Given the description of an element on the screen output the (x, y) to click on. 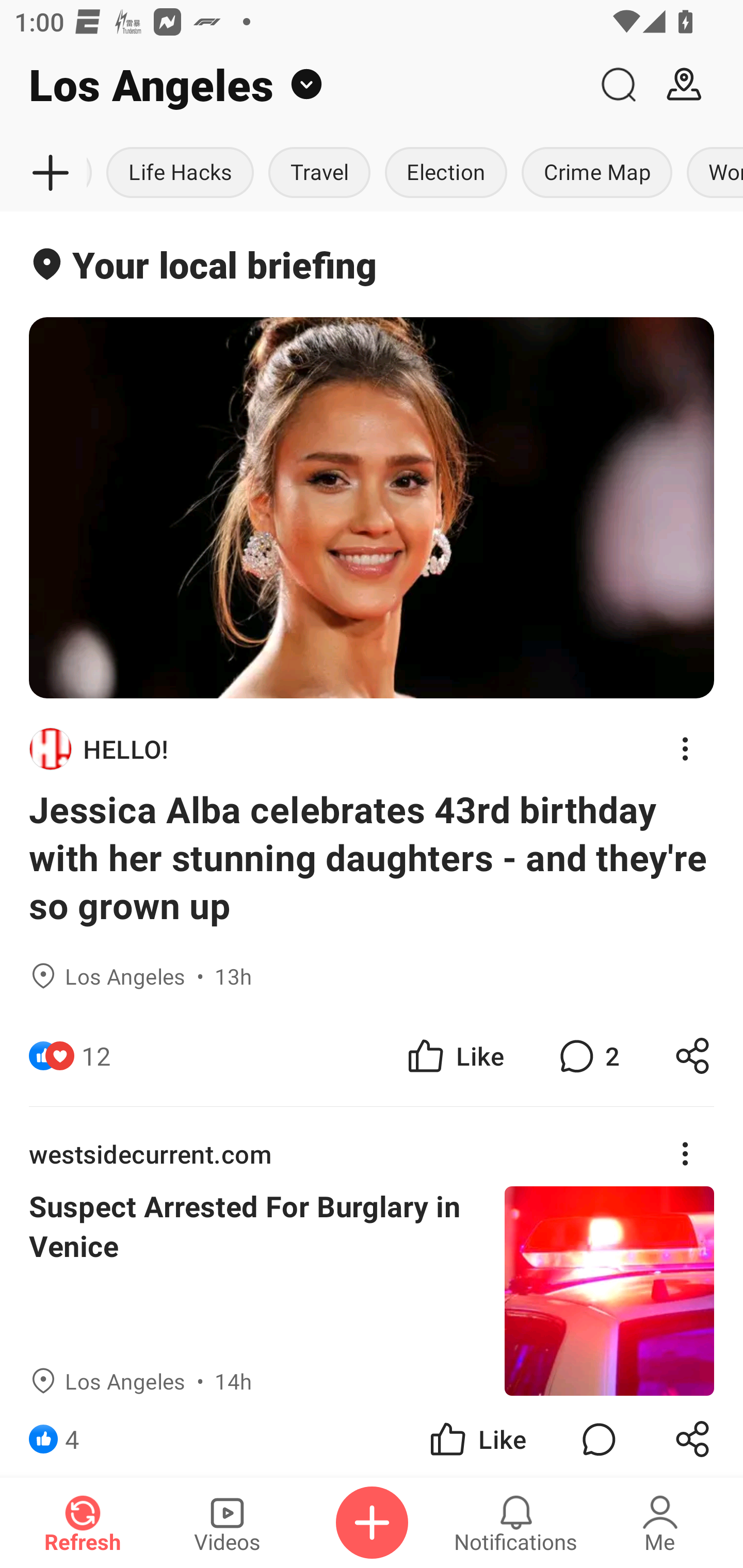
Los Angeles (292, 84)
Life Hacks (179, 172)
Travel (318, 172)
Election (445, 172)
Crime Map (596, 172)
12 (95, 1055)
Like (454, 1055)
2 (587, 1055)
4 (72, 1436)
Like (476, 1436)
Videos (227, 1522)
Notifications (516, 1522)
Me (659, 1522)
